Given the description of an element on the screen output the (x, y) to click on. 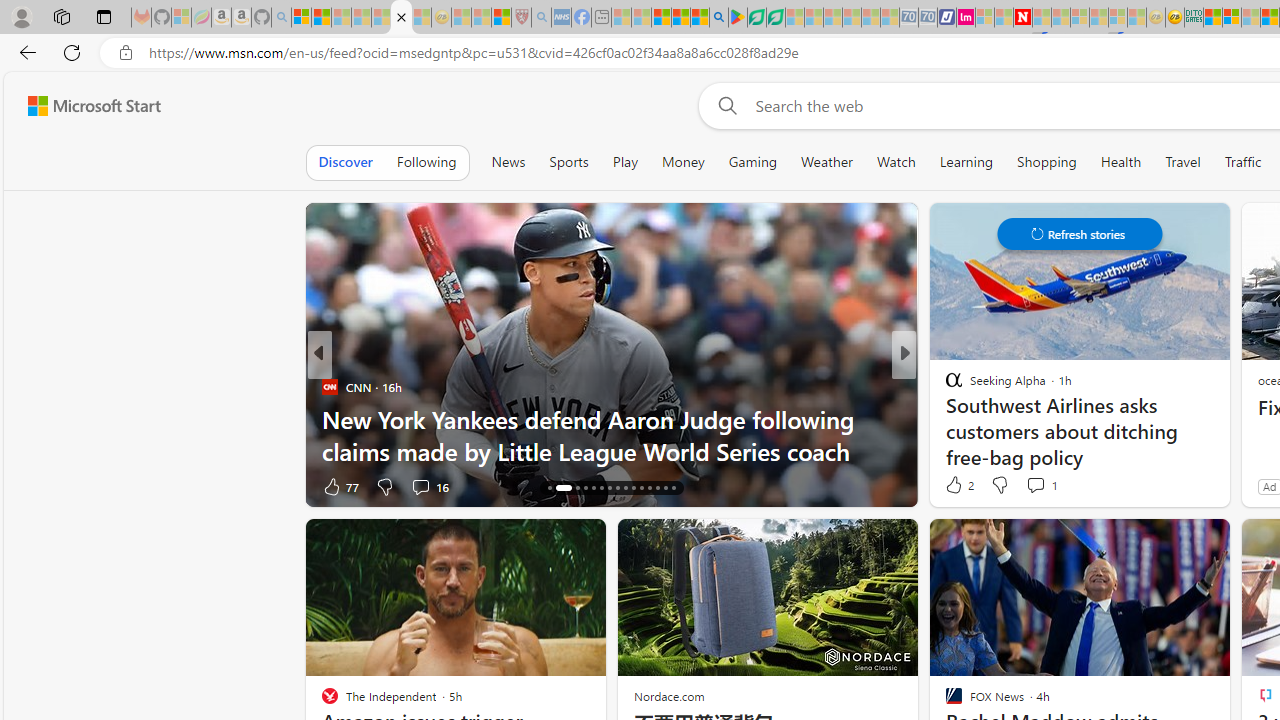
2 Like (957, 484)
AutomationID: tab-29 (664, 487)
